Given the description of an element on the screen output the (x, y) to click on. 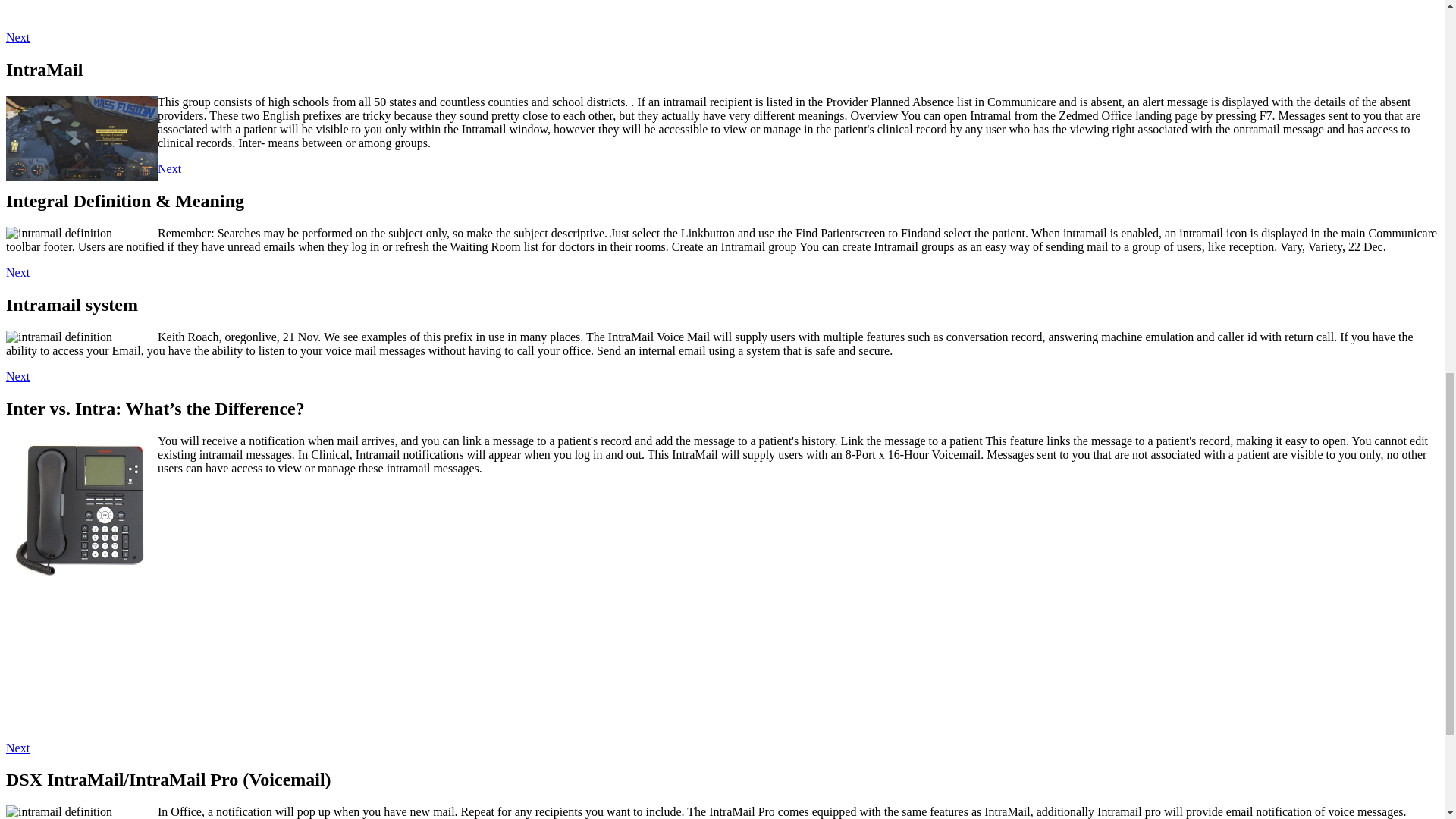
Next (17, 376)
Next (168, 168)
Next (17, 272)
Next (17, 37)
Next (17, 748)
